Given the description of an element on the screen output the (x, y) to click on. 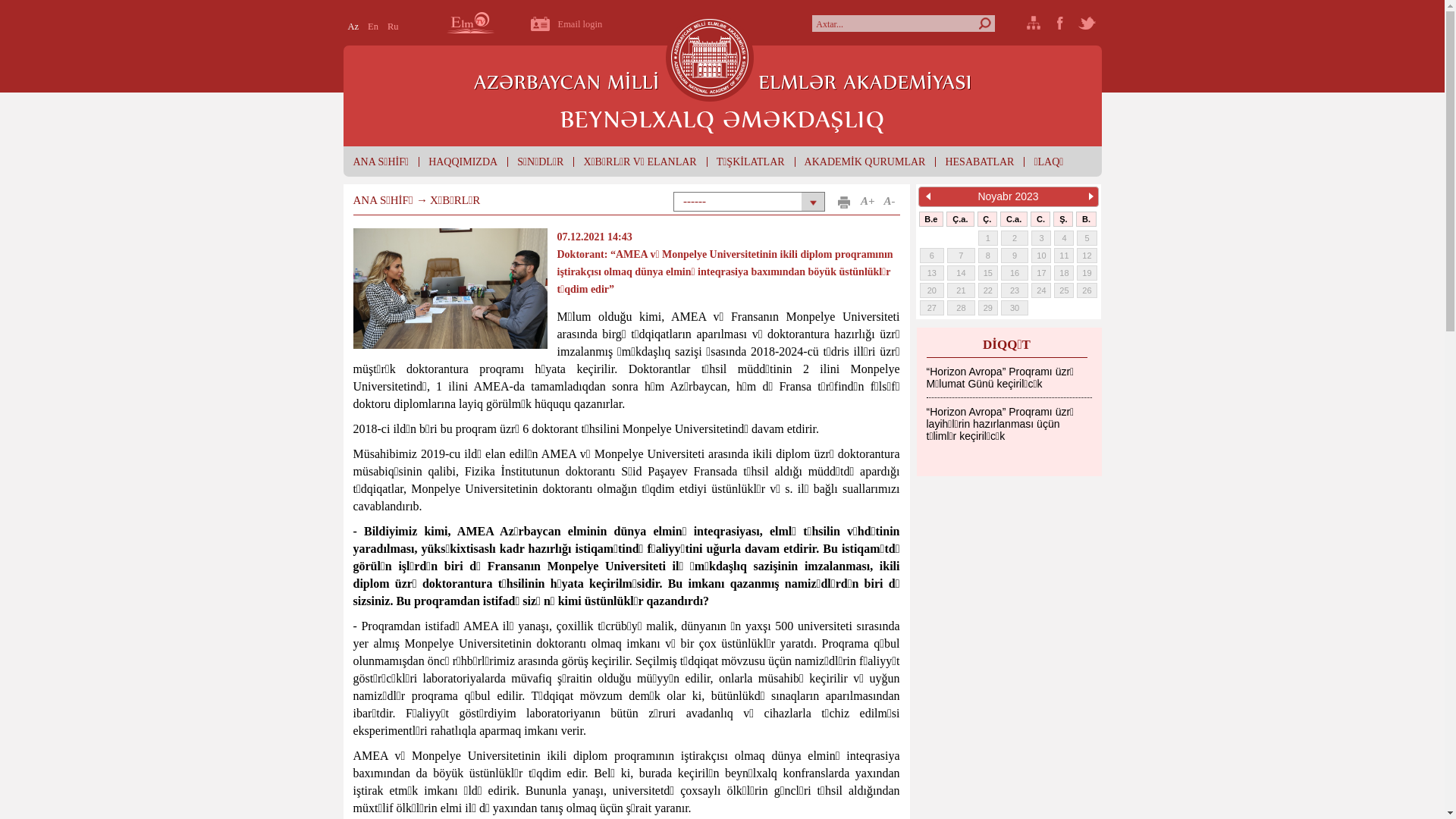
HESABATLAR Element type: text (978, 161)
Next Element type: text (1088, 195)
Prev Element type: text (928, 195)
Ru Element type: text (392, 26)
A- Element type: text (889, 201)
Az Element type: text (352, 26)
HAQQIMIZDA Element type: text (462, 161)
En Element type: text (372, 26)
A+ Element type: text (867, 201)
Email login Element type: text (569, 21)
